Given the description of an element on the screen output the (x, y) to click on. 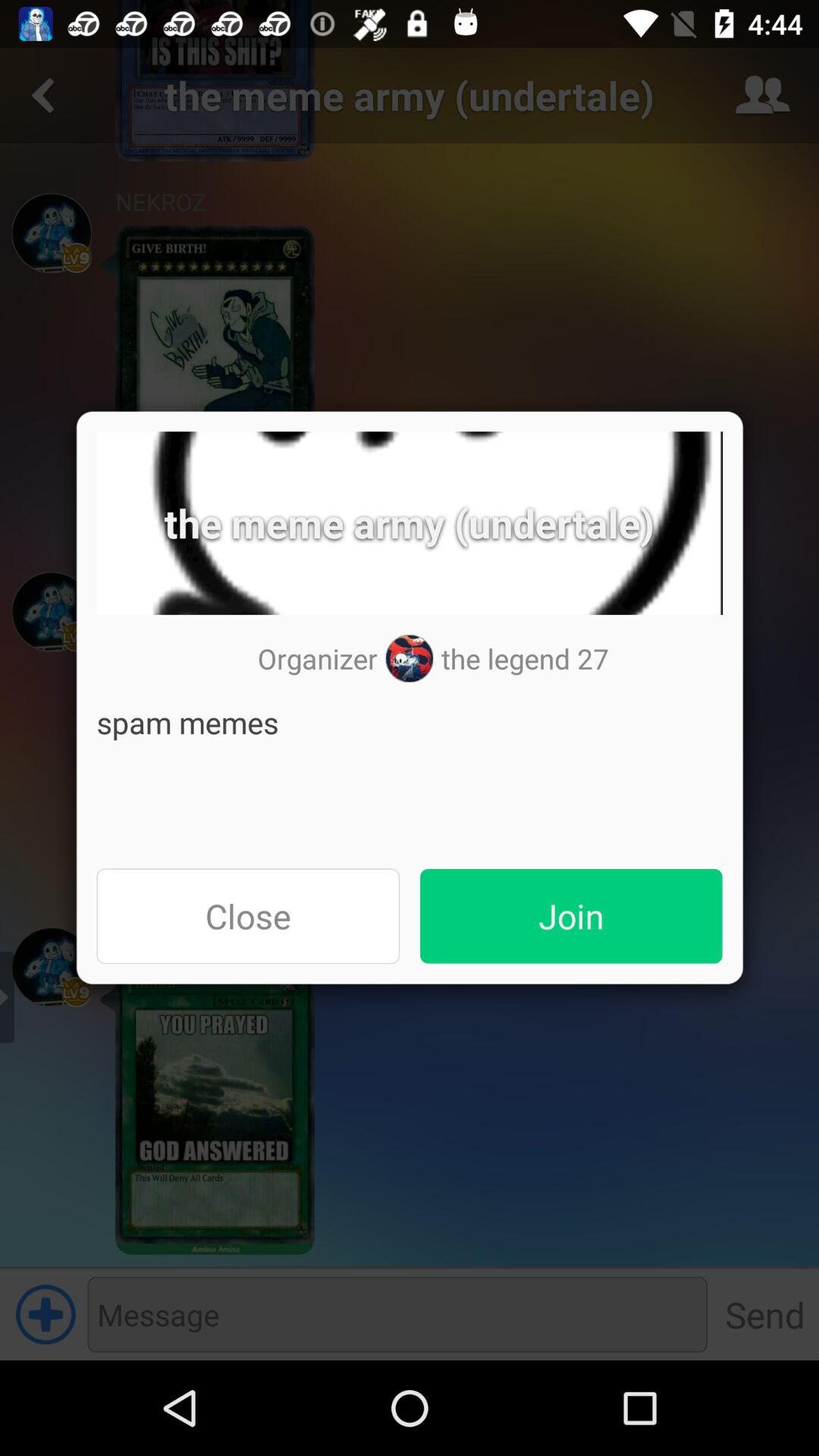
tap the item below spam memes (570, 916)
